Given the description of an element on the screen output the (x, y) to click on. 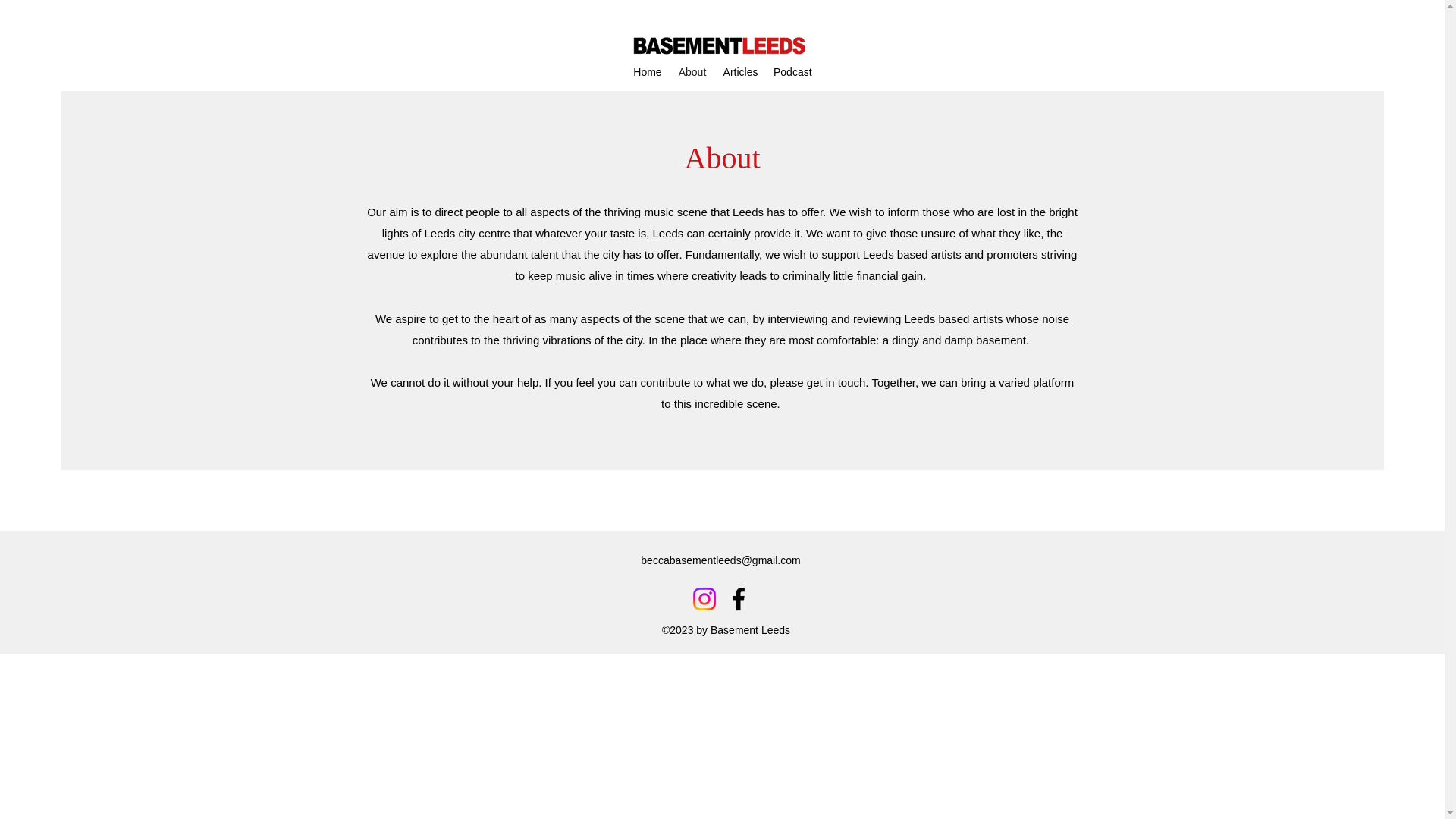
Podcast (791, 71)
About (691, 71)
Articles (739, 71)
Home (647, 71)
